Given the description of an element on the screen output the (x, y) to click on. 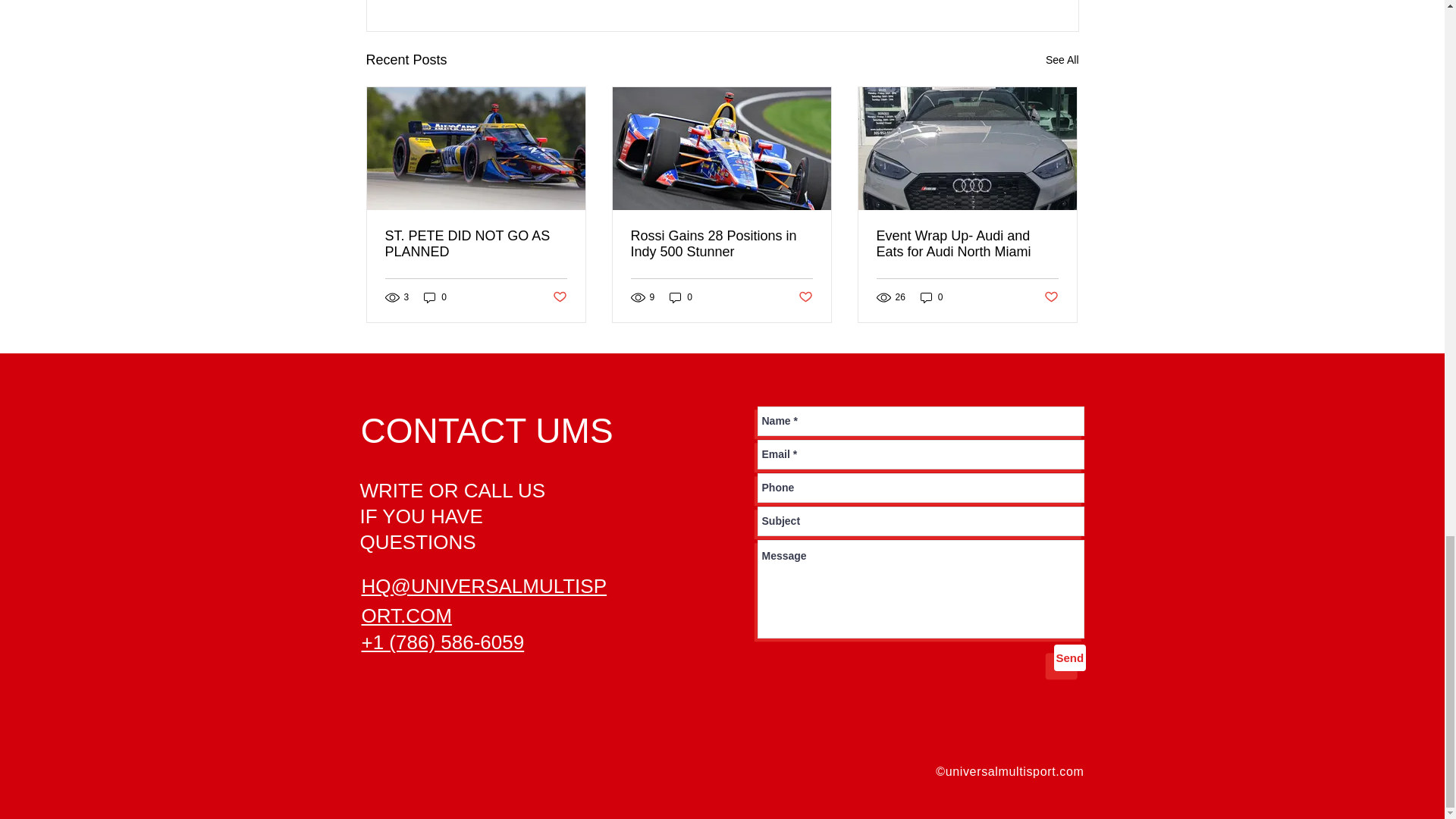
Post not marked as liked (558, 296)
Post not marked as liked (1050, 296)
Event Wrap Up- Audi and Eats for Audi North Miami (967, 244)
0 (681, 297)
Send (1070, 657)
ST. PETE DID NOT GO AS PLANNED (476, 244)
Post not marked as liked (804, 296)
0 (931, 297)
See All (1061, 60)
0 (435, 297)
